Given the description of an element on the screen output the (x, y) to click on. 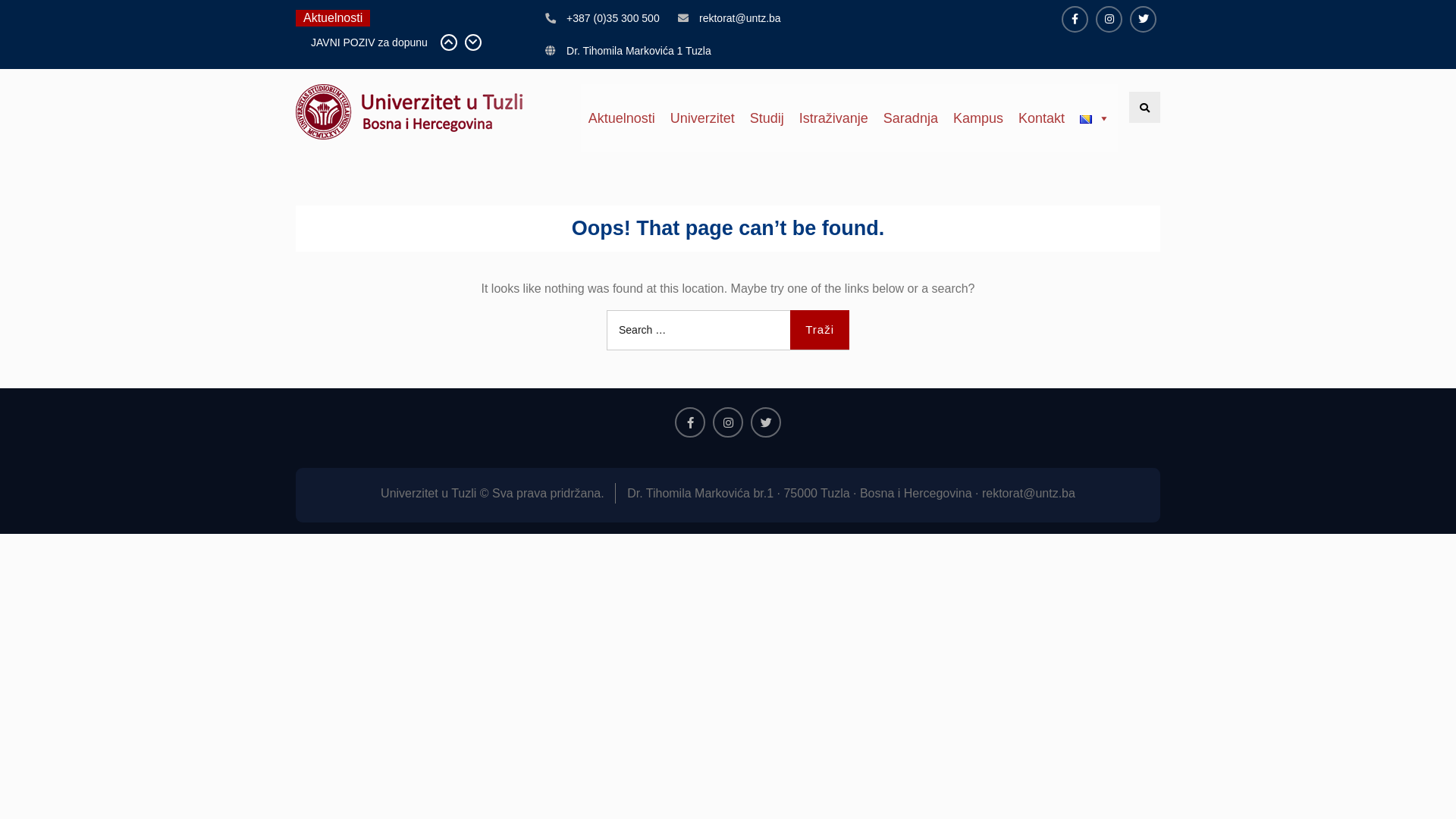
Kampus Element type: text (977, 118)
Search Element type: text (1144, 106)
Facebook Element type: text (689, 422)
Saradnja Element type: text (910, 118)
Aktuelnosti Element type: text (621, 118)
Instagram Element type: text (1108, 19)
Univerzitet Element type: text (702, 118)
Studij Element type: text (766, 118)
Twitter Element type: text (1142, 19)
rektorat@untz.ba Element type: text (740, 18)
Instagram Element type: text (727, 422)
+387 (0)35 300 500 Element type: text (612, 18)
Twitter Element type: text (765, 422)
Facebook Element type: text (1074, 19)
Kontakt Element type: text (1041, 118)
